Given the description of an element on the screen output the (x, y) to click on. 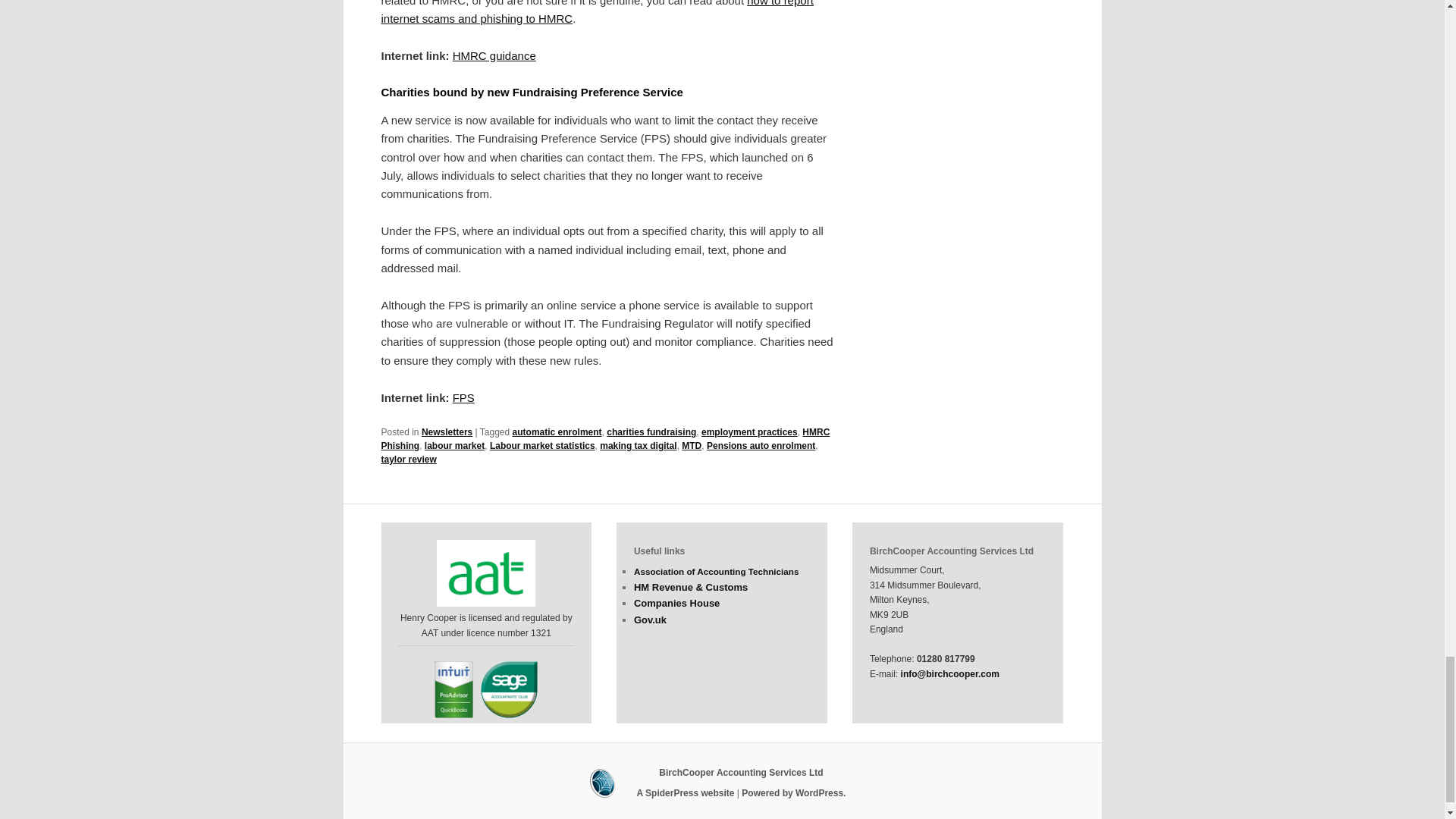
Semantic Personal Publishing Platform (793, 792)
Sage Accountants Club member (508, 689)
labour market (454, 445)
Pensions auto enrolment (760, 445)
Newsletters (446, 431)
HMRC Phishing (604, 438)
automatic enrolment (557, 431)
employment practices (749, 431)
Association of Accounting Technicians - member (485, 572)
charities fundraising (651, 431)
how to report internet scams and phishing to HMRC (596, 12)
SpiderPress (722, 782)
BirchCooper (740, 772)
HMRC guidance (493, 55)
FPS (463, 397)
